Given the description of an element on the screen output the (x, y) to click on. 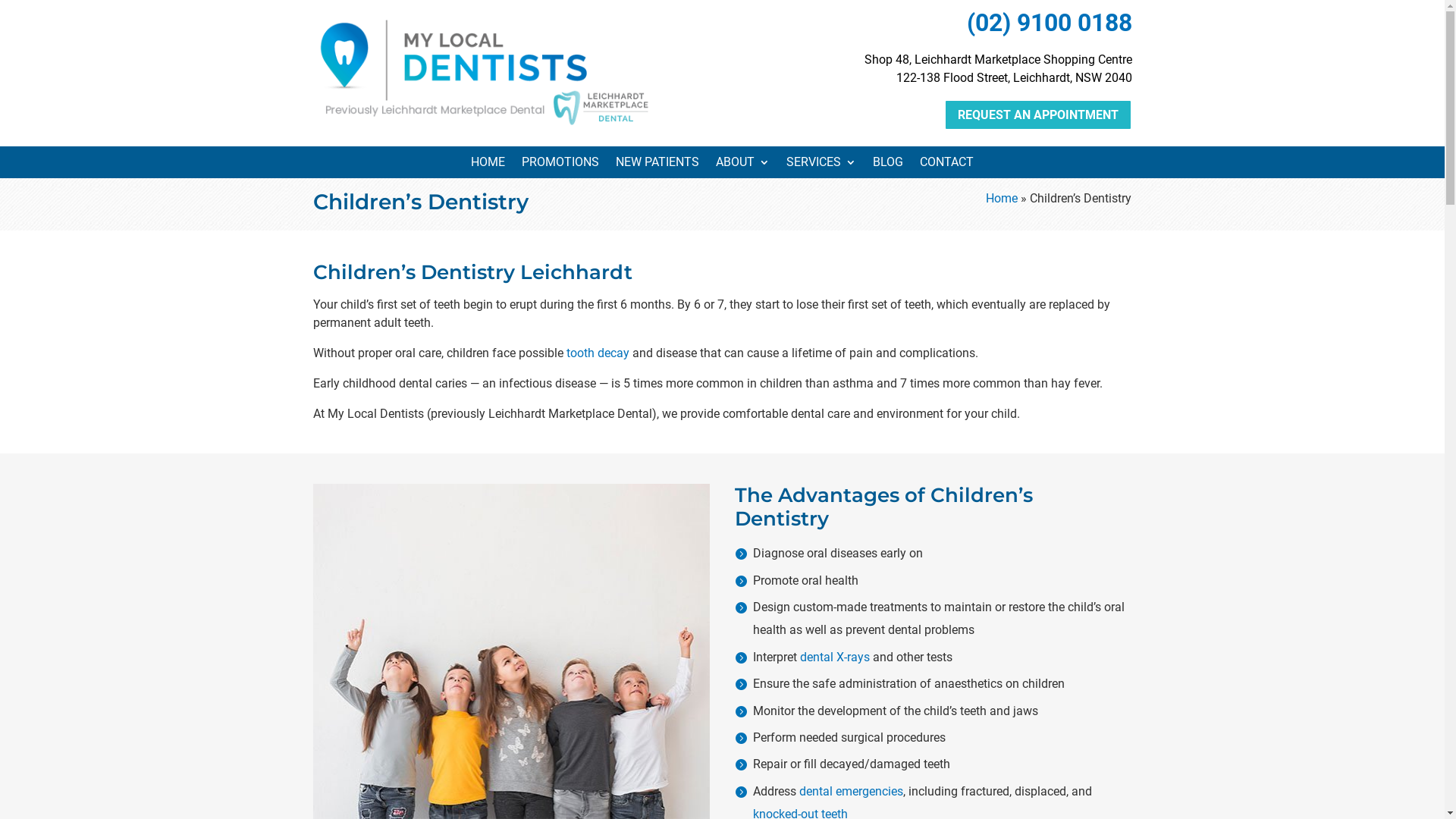
REQUEST AN APPOINTMENT Element type: text (1037, 114)
tooth decay Element type: text (596, 352)
CONTACT Element type: text (946, 164)
HOME Element type: text (487, 164)
BLOG Element type: text (887, 164)
NEW PATIENTS Element type: text (657, 164)
Home Element type: text (1001, 198)
(02) 9100 0188 Element type: text (1048, 22)
PROMOTIONS Element type: text (560, 164)
dental X-rays Element type: text (834, 656)
My-Local-Dentists-Previously-Leichhardt-Marketplace-Dental Element type: hover (483, 70)
ABOUT Element type: text (742, 164)
SERVICES Element type: text (821, 164)
dental emergencies Element type: text (851, 791)
